Given the description of an element on the screen output the (x, y) to click on. 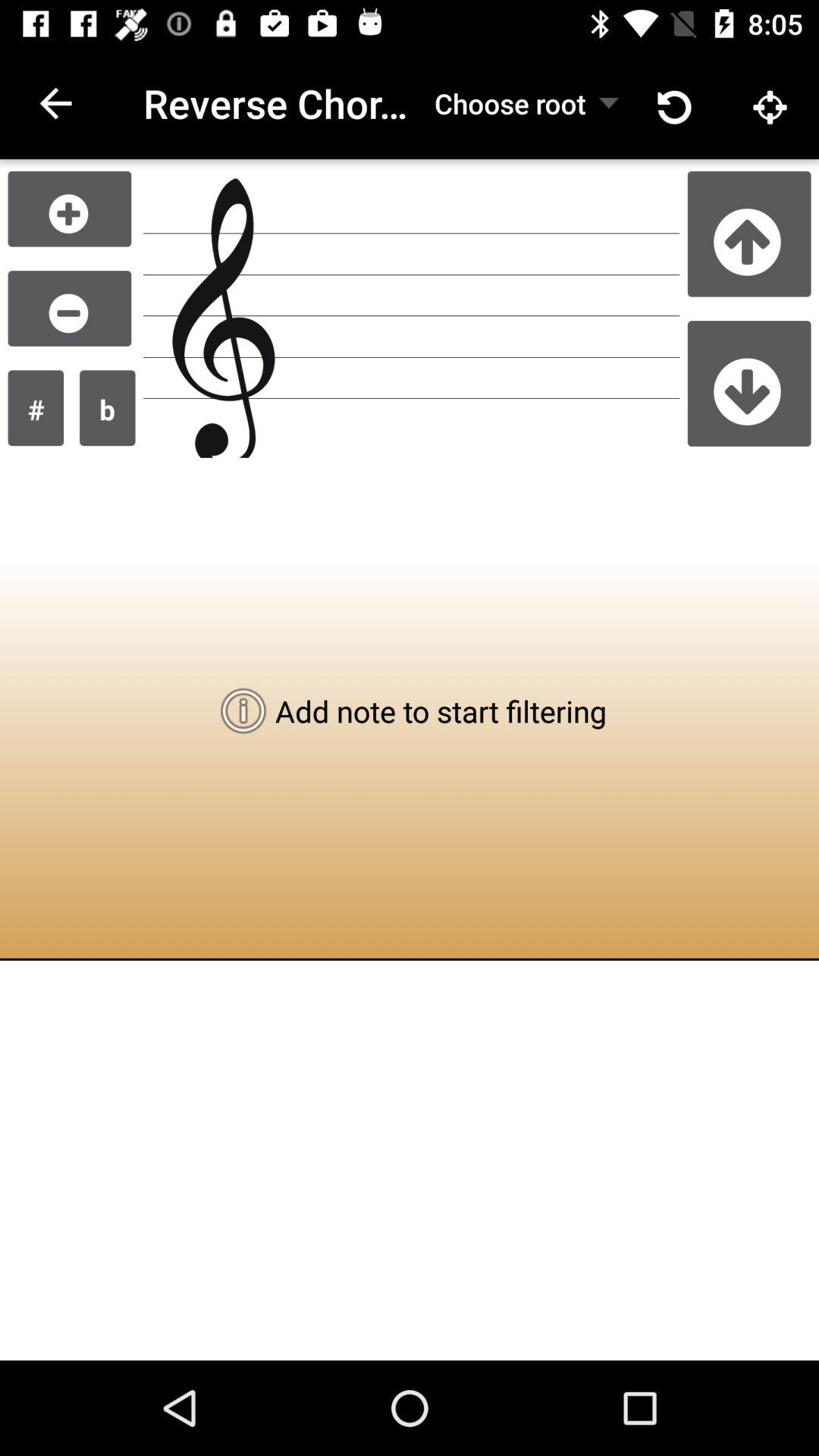
make the music note flat (107, 407)
